Given the description of an element on the screen output the (x, y) to click on. 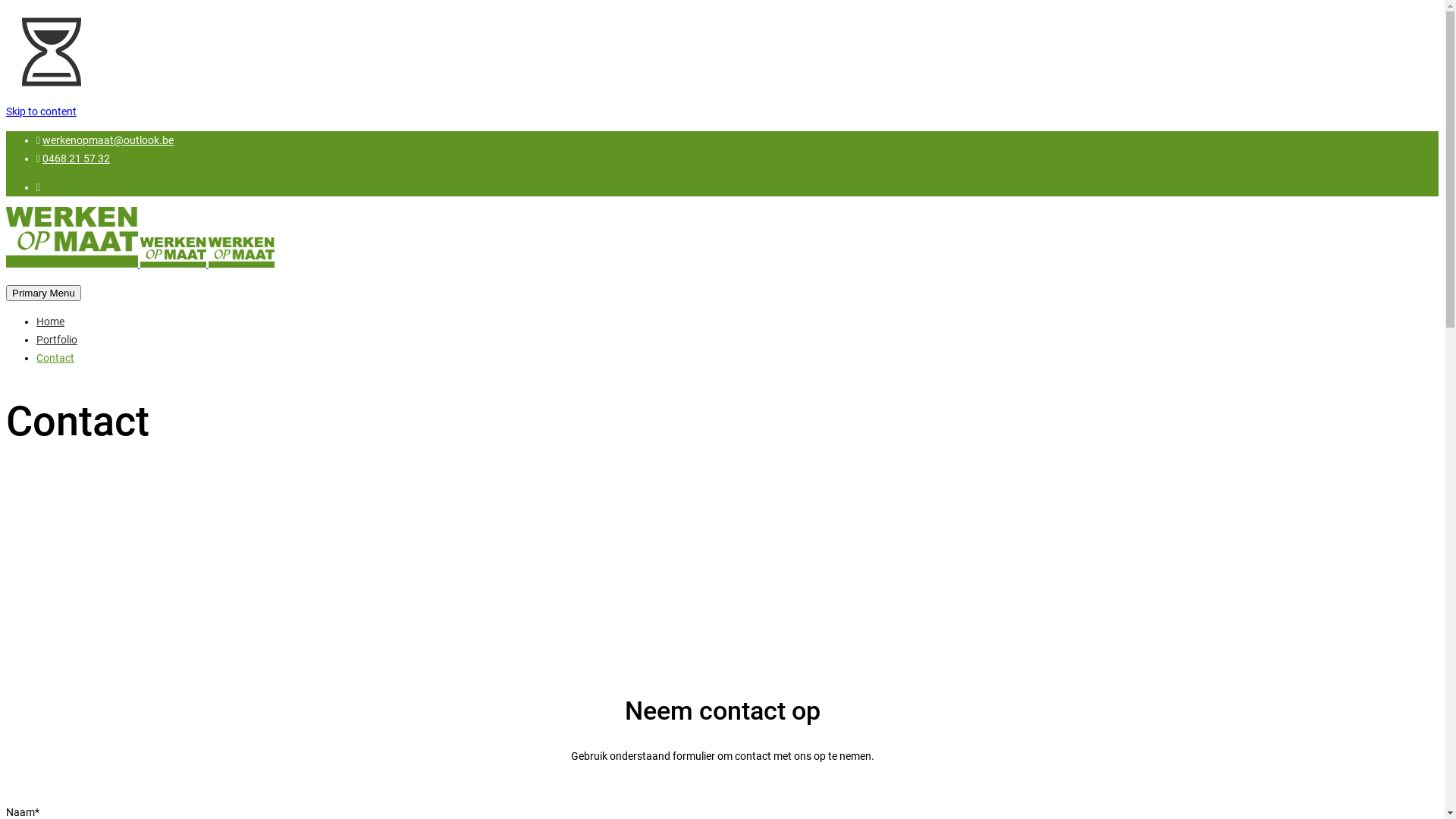
Portfolio Element type: text (56, 339)
Primary Menu Element type: text (43, 293)
0468 21 57 32 Element type: text (75, 158)
Home Element type: text (50, 321)
Contact Element type: text (55, 357)
Werken op maat Element type: hover (241, 252)
Skip to content Element type: text (41, 111)
werkenopmaat@outlook.be Element type: text (107, 140)
